Given the description of an element on the screen output the (x, y) to click on. 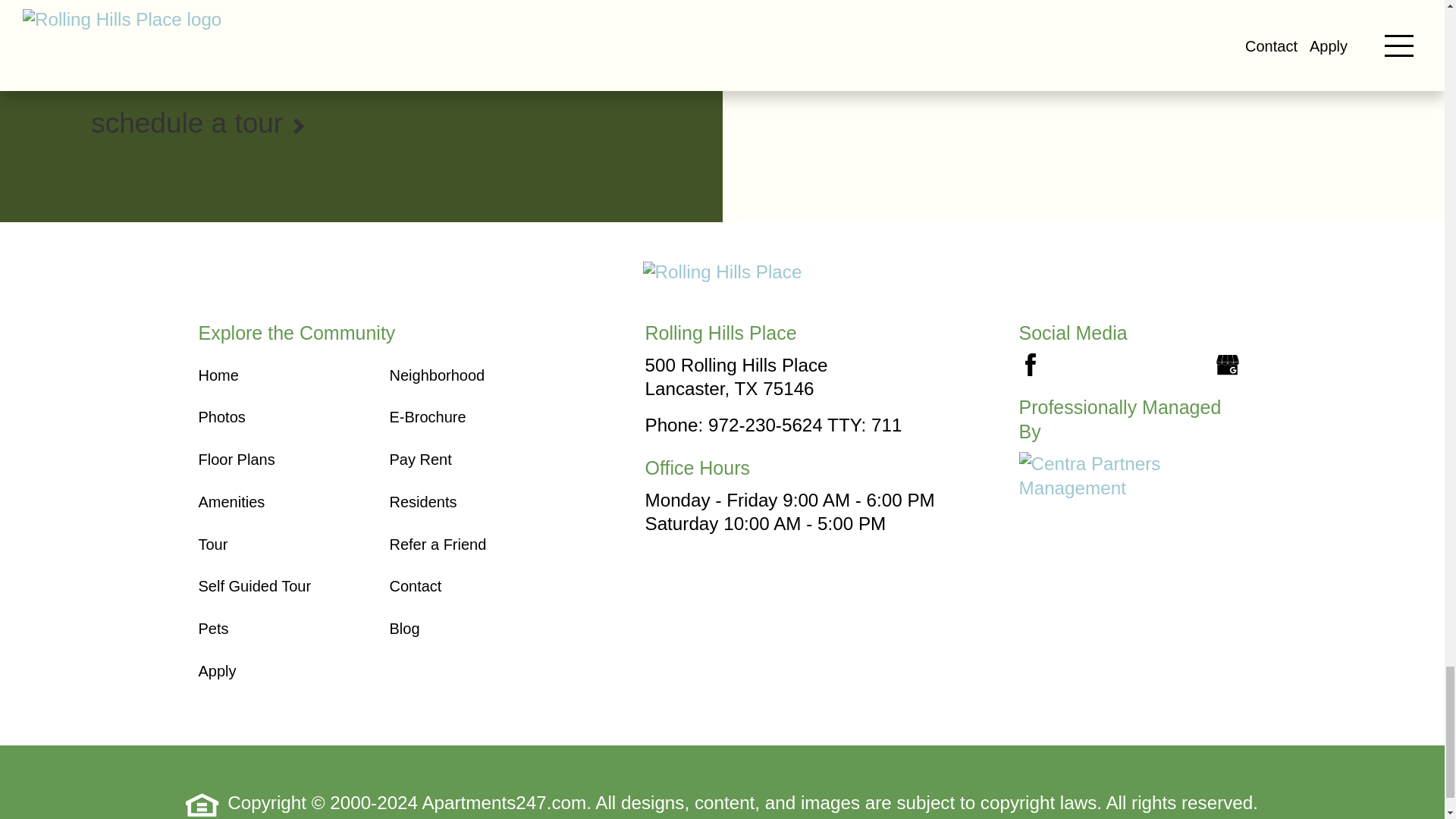
schedule a tour (360, 123)
Home (218, 375)
Manage Site (712, 817)
Centra Partners Management (1094, 475)
Floor Plans (236, 459)
Photos (222, 416)
